Given the description of an element on the screen output the (x, y) to click on. 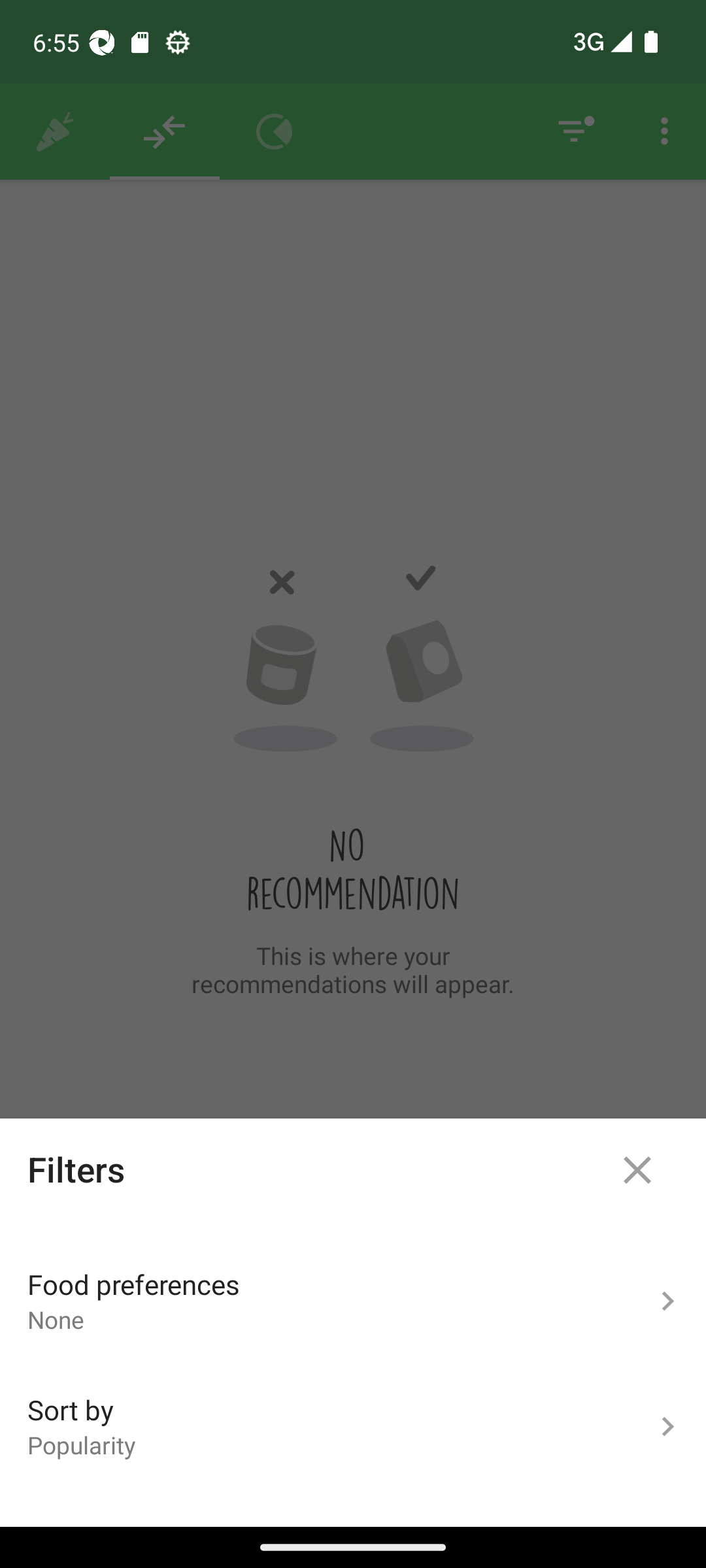
Food preferences None (353, 1301)
Sort by Popularity (353, 1426)
